Given the description of an element on the screen output the (x, y) to click on. 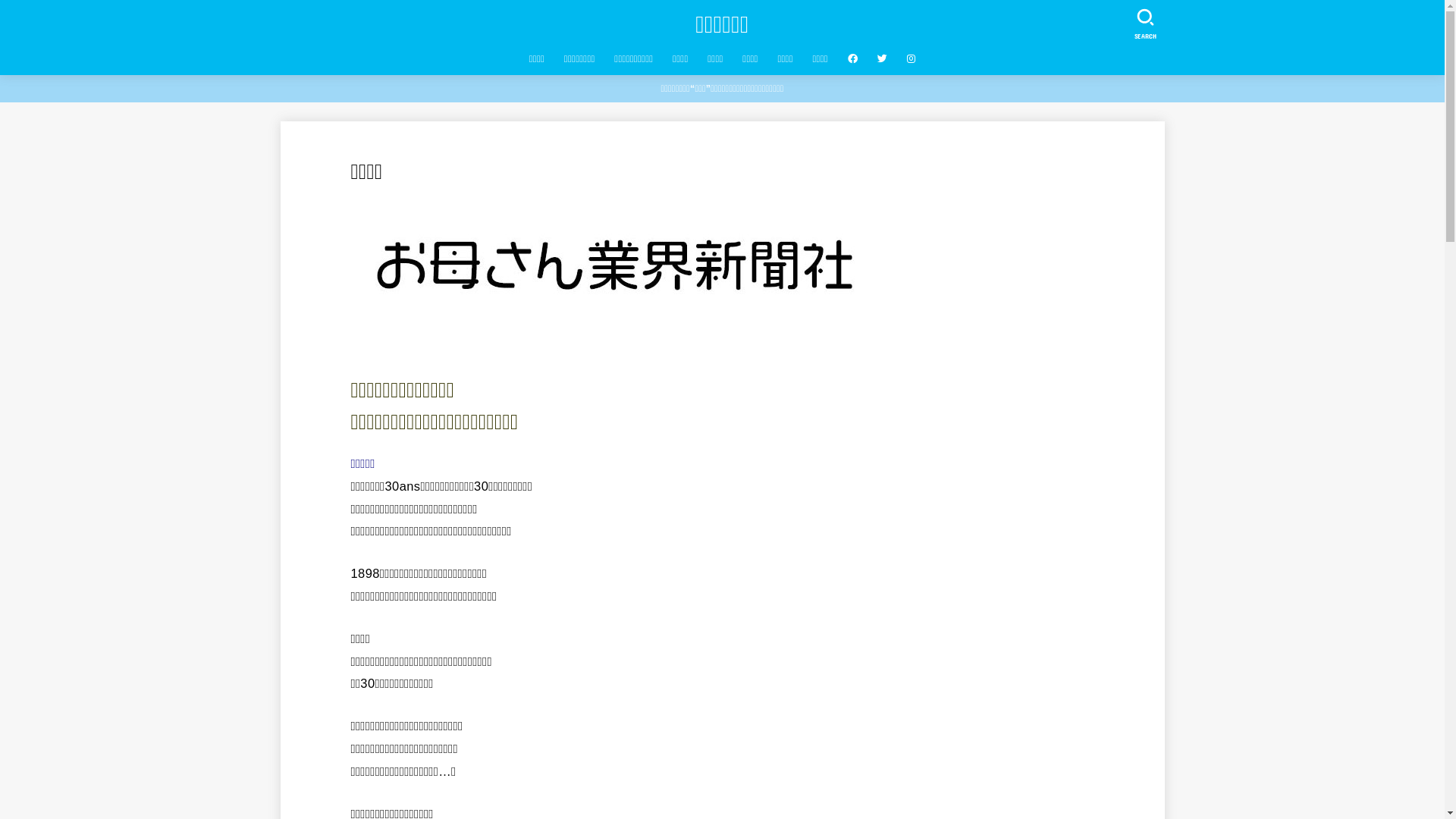
SEARCH Element type: text (1143, 20)
